Given the description of an element on the screen output the (x, y) to click on. 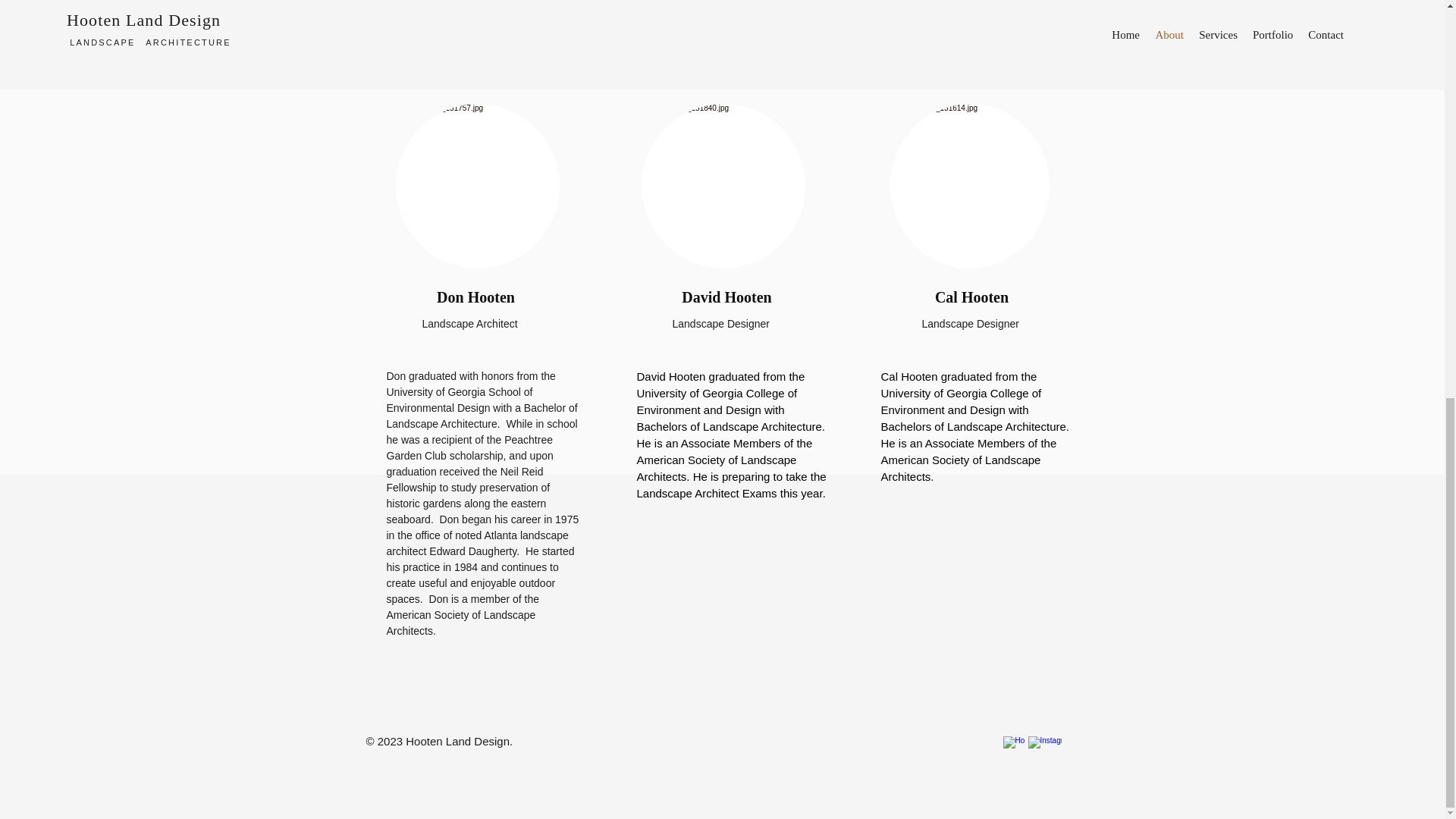
guy4.jpg (723, 186)
guy3.jpg (969, 186)
guy2.jpg (477, 186)
